Given the description of an element on the screen output the (x, y) to click on. 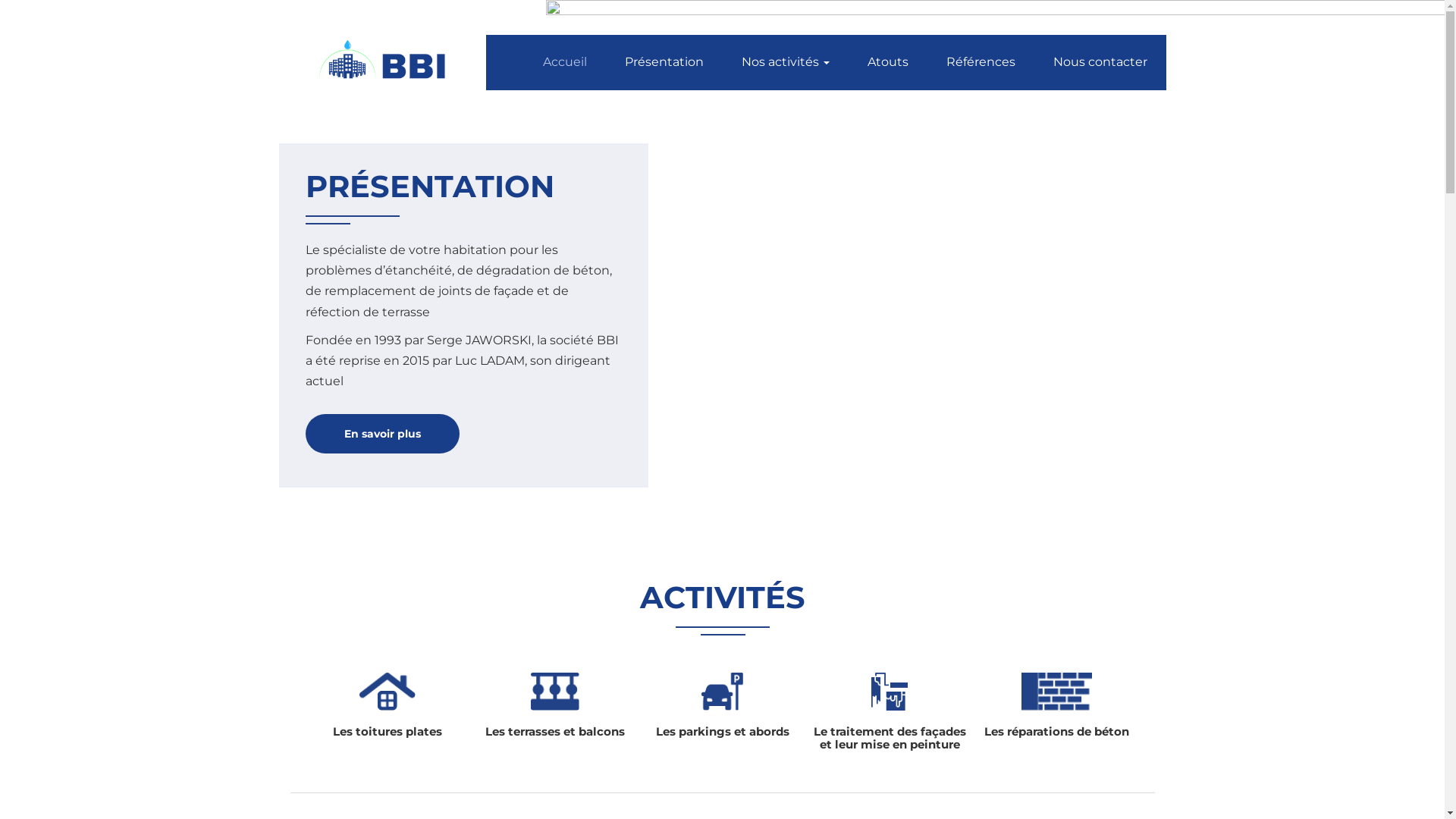
Accueil Element type: text (564, 61)
Nous contacter Element type: text (1100, 61)
Les toitures plates Element type: text (387, 710)
En savoir plus Element type: text (381, 433)
Atouts Element type: text (886, 61)
Les parkings et abords Element type: text (722, 710)
Les terrasses et balcons Element type: text (555, 710)
